Given the description of an element on the screen output the (x, y) to click on. 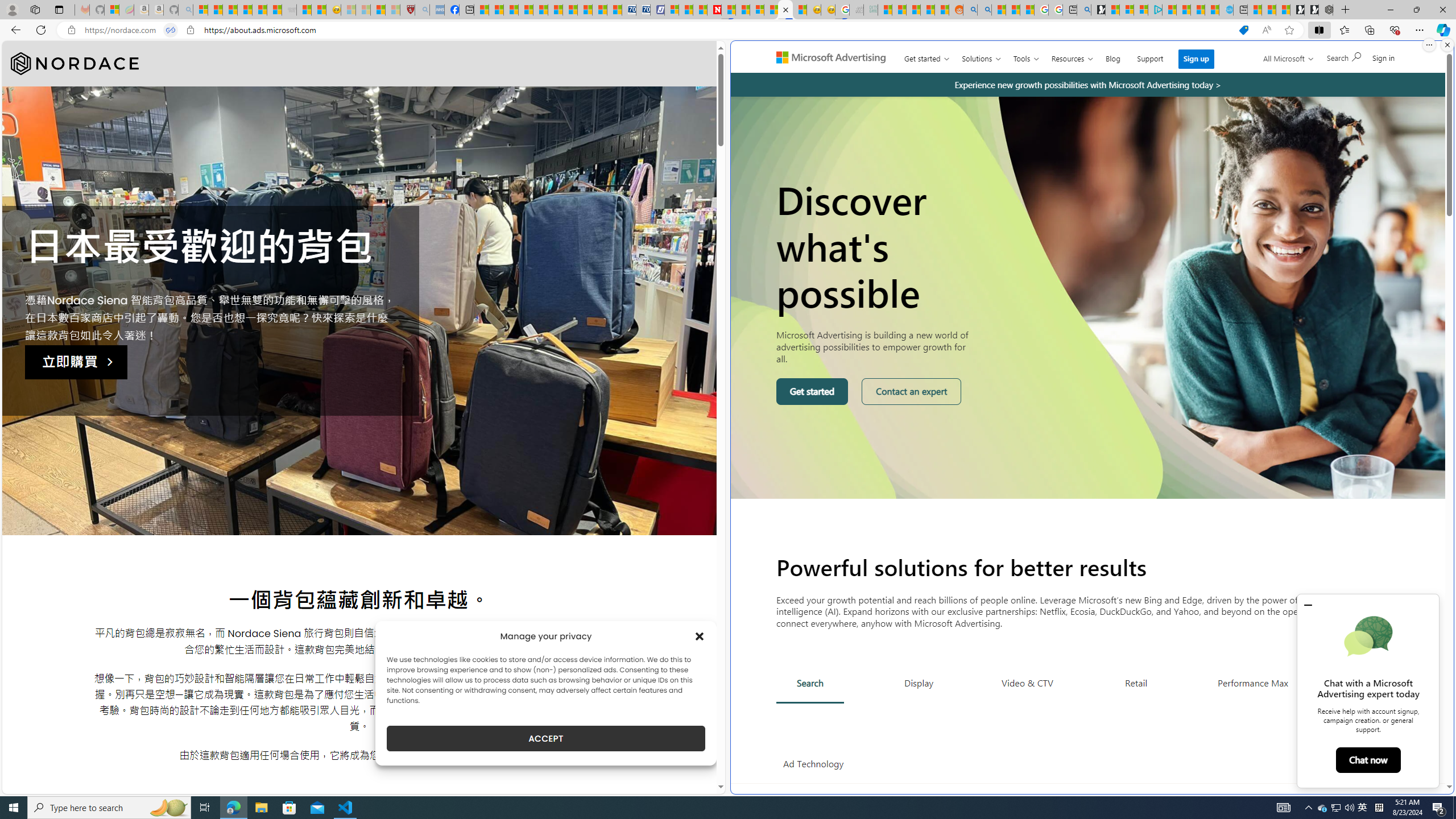
Support (1149, 55)
Class: cmplz-close (699, 636)
